Given the description of an element on the screen output the (x, y) to click on. 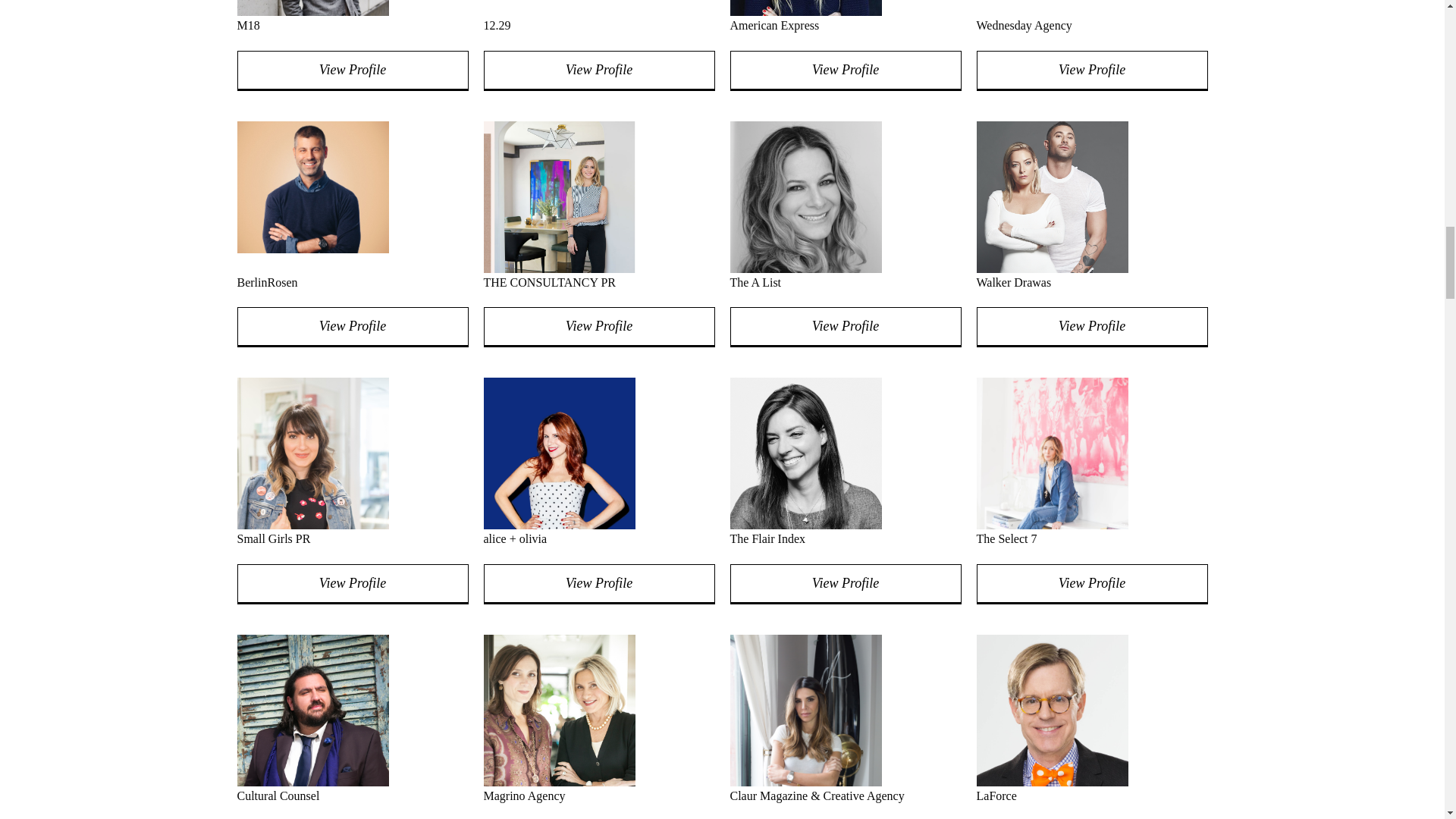
View Profile (598, 584)
View Profile (844, 327)
View Profile (598, 327)
View Profile (351, 327)
View Profile (1092, 70)
View Profile (844, 70)
View Profile (1092, 584)
View Profile (1092, 327)
View Profile (351, 584)
View Profile (844, 584)
View Profile (598, 70)
View Profile (351, 70)
